Given the description of an element on the screen output the (x, y) to click on. 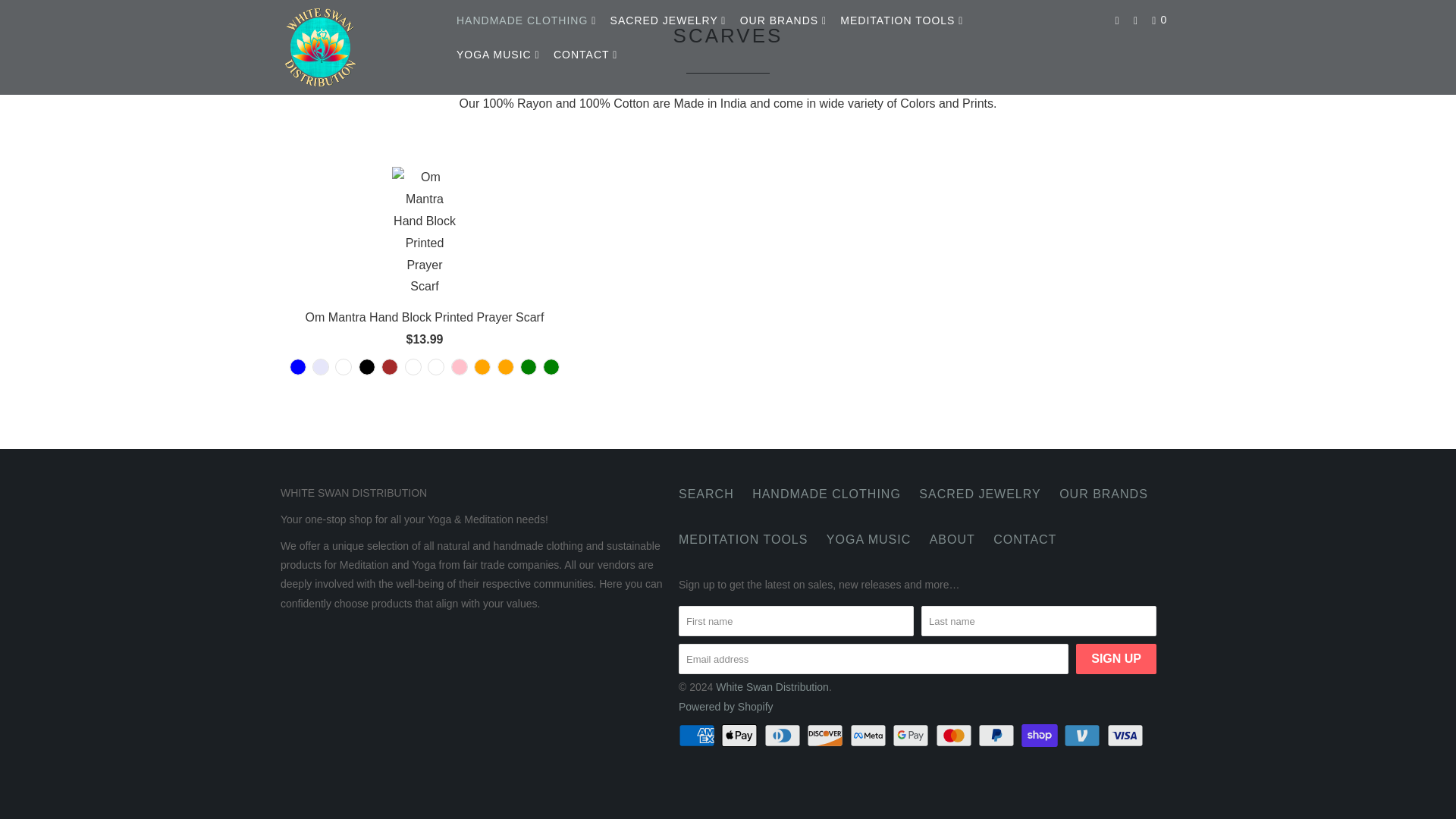
Sign Up (1115, 658)
Diners Club (783, 734)
American Express (697, 734)
Google Pay (911, 734)
My Account  (1118, 20)
Venmo (1083, 734)
Discover (825, 734)
PayPal (997, 734)
Mastercard (955, 734)
Apple Pay (740, 734)
Shop Pay (1041, 734)
Meta Pay (869, 734)
Visa (1126, 734)
Search (1136, 20)
White Swan Distribution (358, 47)
